Given the description of an element on the screen output the (x, y) to click on. 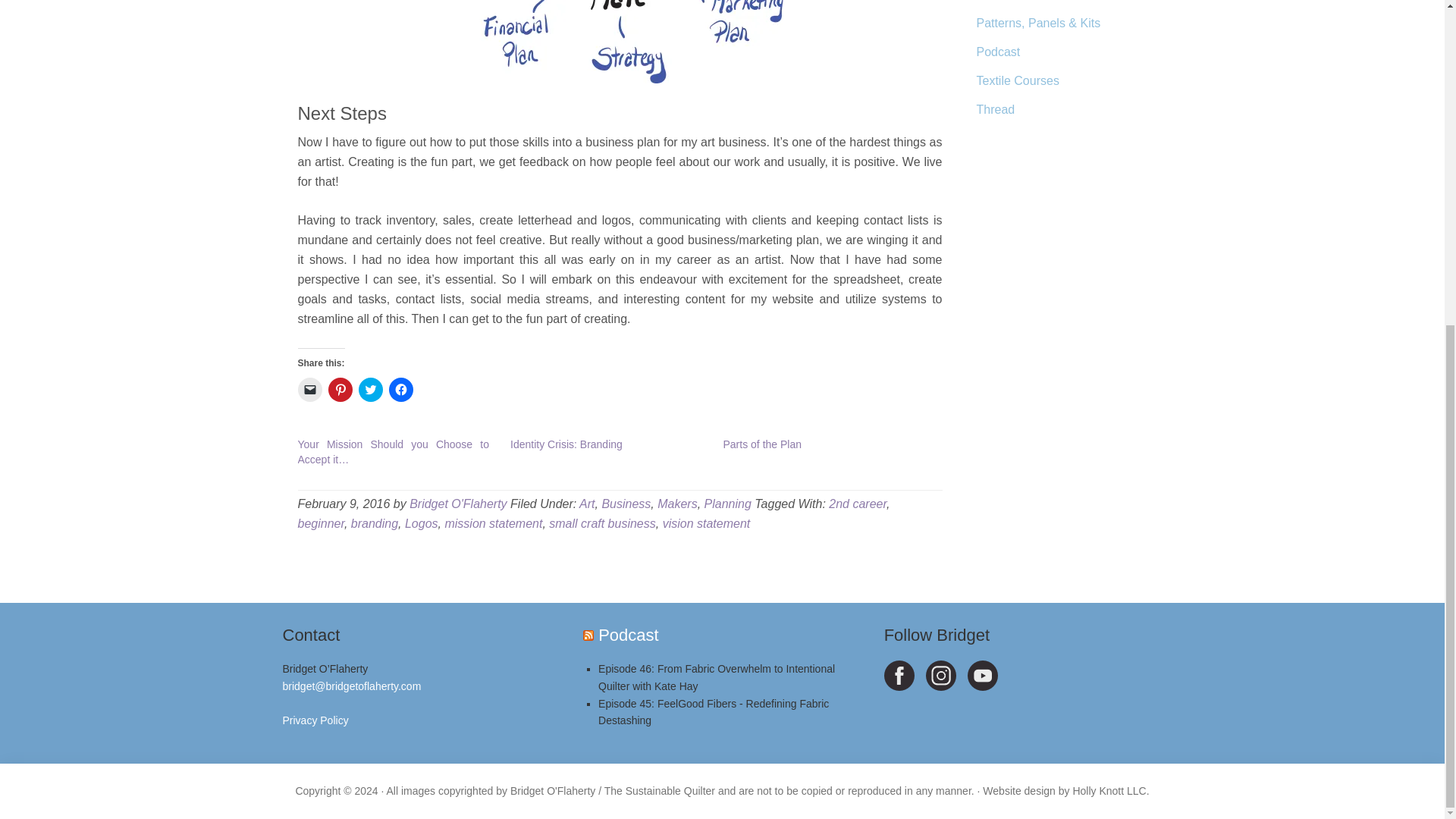
Parts of the Plan (762, 444)
Click to share on Pinterest (339, 389)
Identity Crisis: Branding (567, 444)
Bridget O'Flaherty (457, 503)
Makers (677, 503)
beginner (320, 522)
Parts of the Plan (762, 444)
Click to email a link to a friend (309, 389)
Click to share on Facebook (400, 389)
2nd career (857, 503)
Business (625, 503)
branding (373, 522)
Logos (421, 522)
Identity Crisis: Branding (567, 444)
Click to share on Twitter (369, 389)
